Given the description of an element on the screen output the (x, y) to click on. 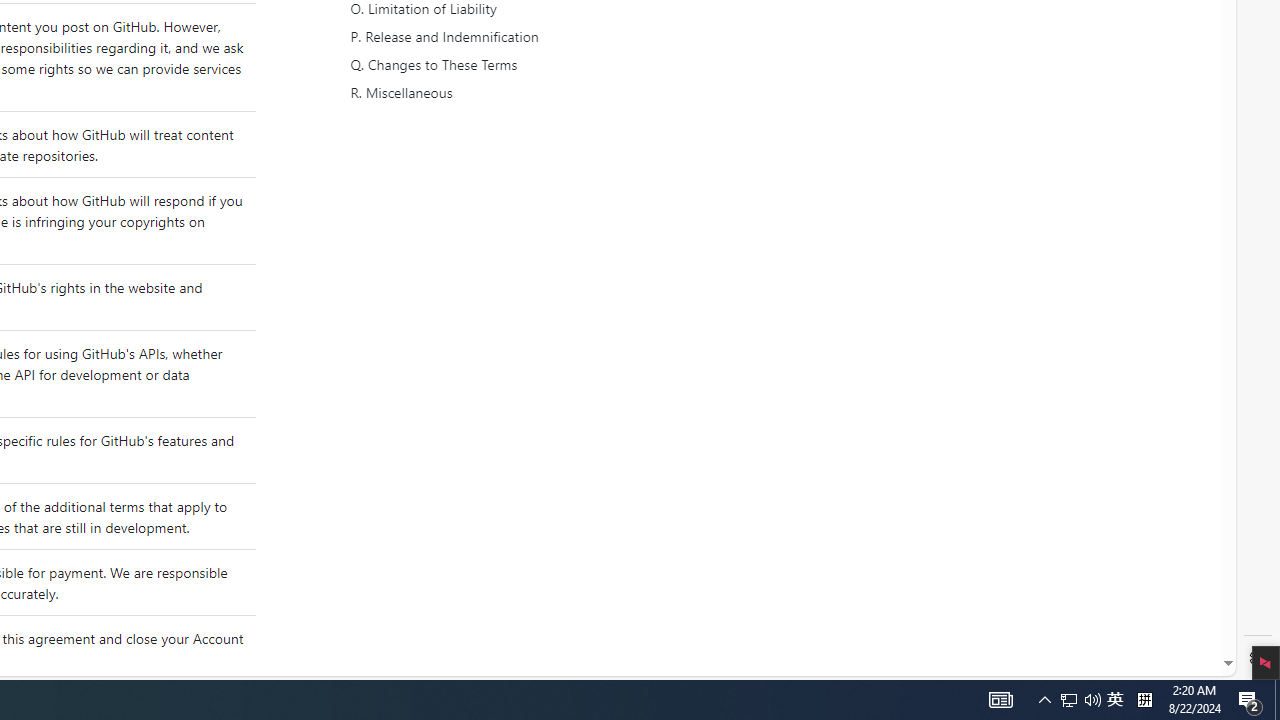
Q. Changes to These Terms (535, 65)
P. Release and Indemnification (535, 37)
R. Miscellaneous (535, 93)
P. Release and Indemnification (538, 37)
R. Miscellaneous (538, 93)
Q. Changes to These Terms (538, 65)
